Given the description of an element on the screen output the (x, y) to click on. 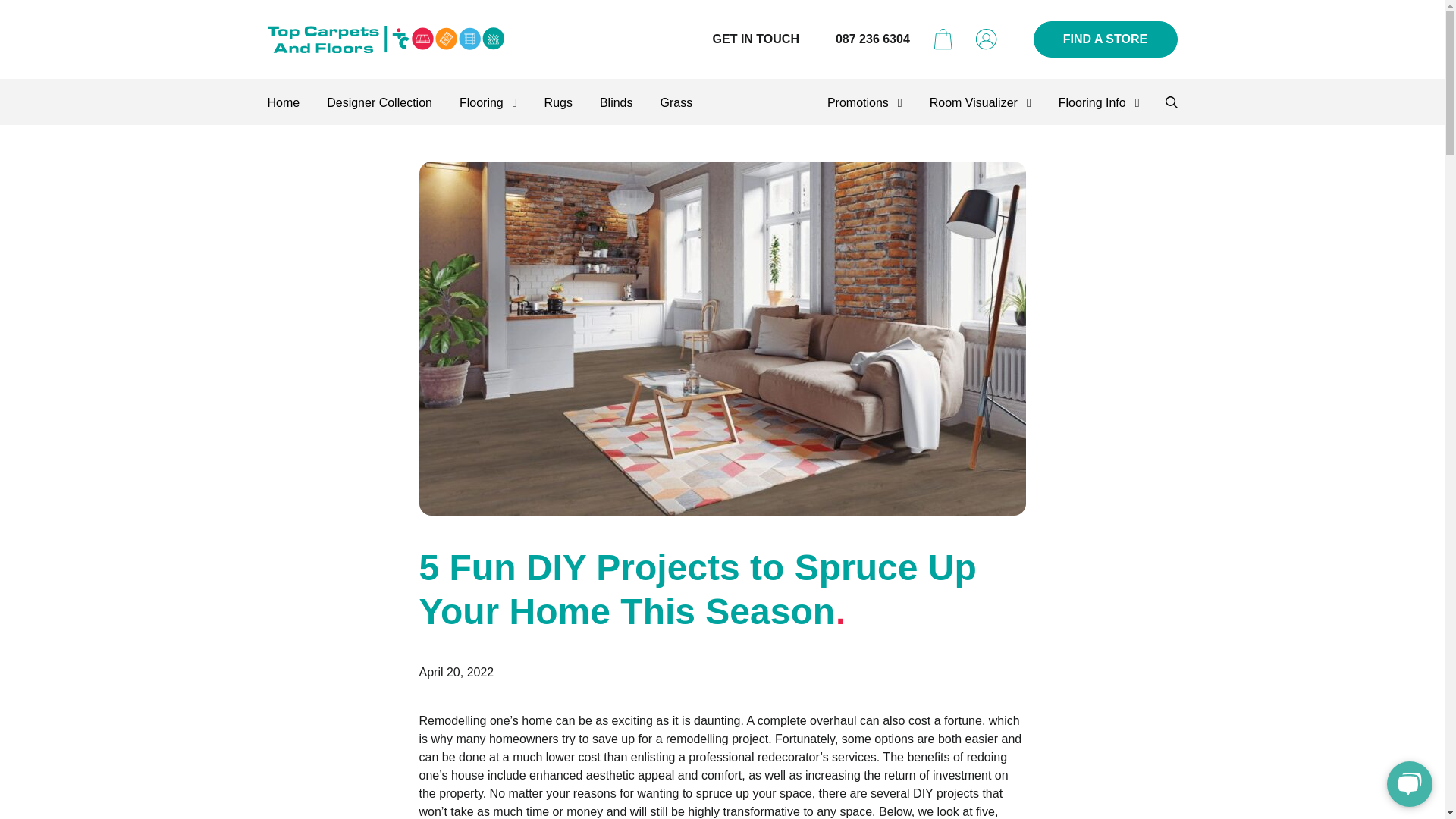
GET IN TOUCH (756, 38)
087 236 6304 (872, 38)
